Given the description of an element on the screen output the (x, y) to click on. 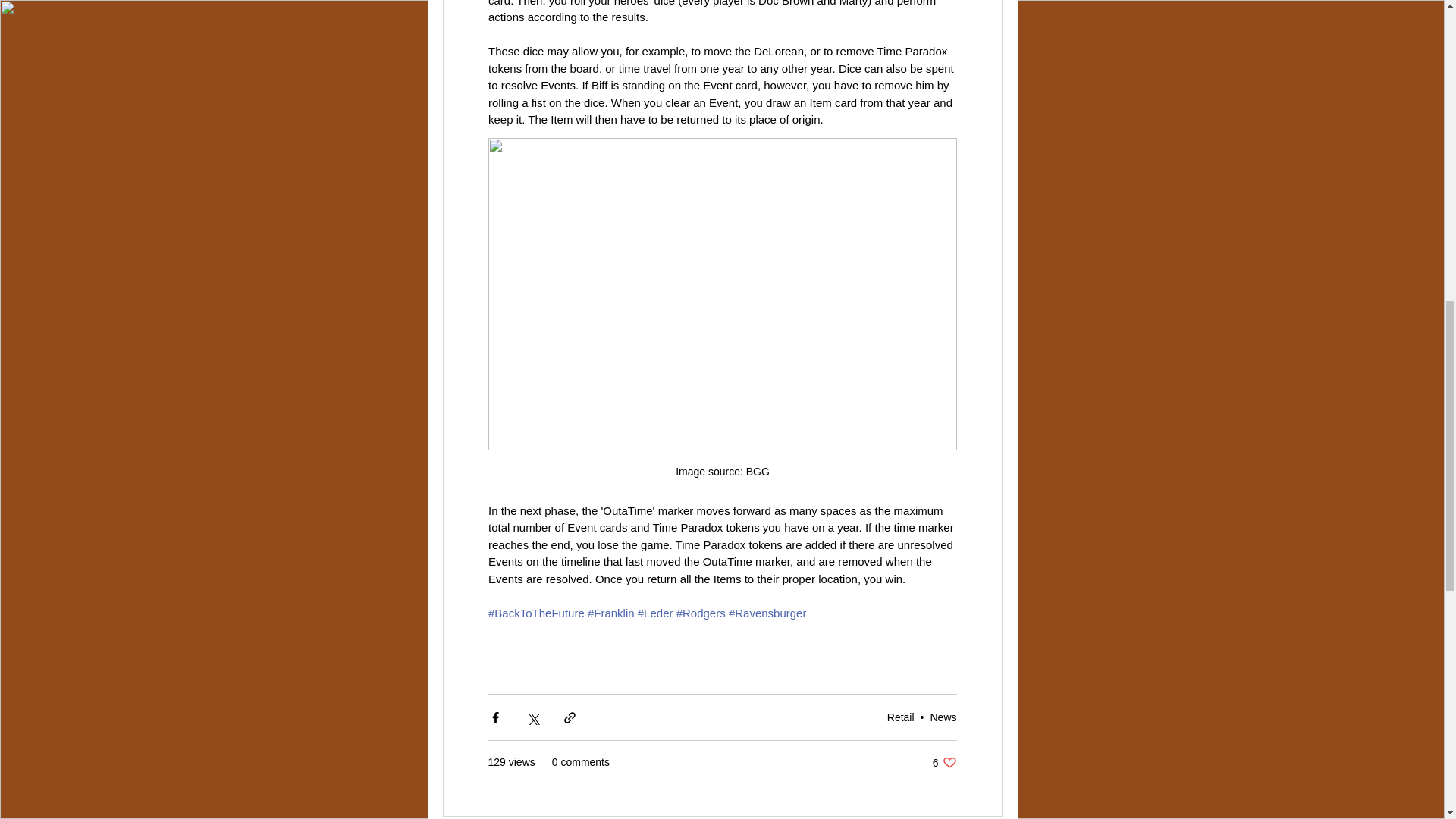
Retail (944, 762)
News (900, 717)
